Given the description of an element on the screen output the (x, y) to click on. 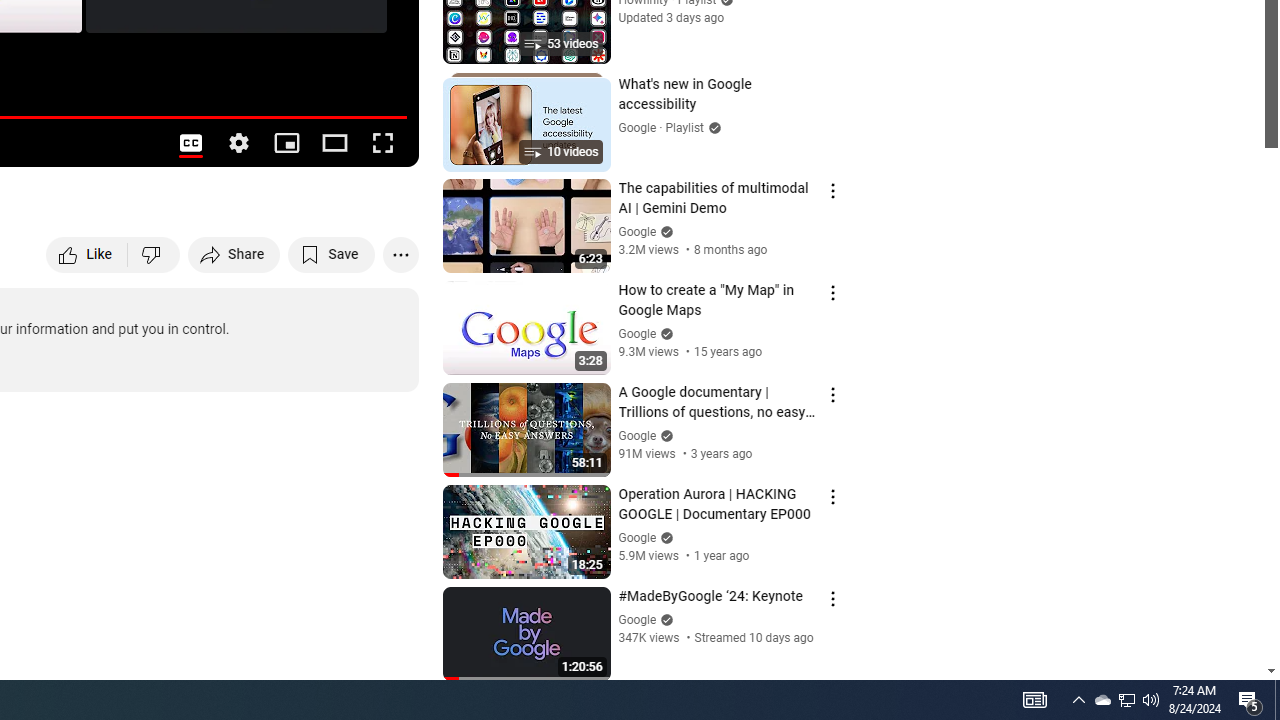
Like (87, 254)
Verified (664, 619)
Share (234, 254)
More actions (399, 254)
Miniplayer (i) (286, 142)
Full screen (f) (382, 142)
Subtitles/closed captions unavailable (190, 142)
Theater mode (t) (333, 142)
Save to playlist (331, 254)
Settings (237, 142)
Action menu (832, 598)
